Given the description of an element on the screen output the (x, y) to click on. 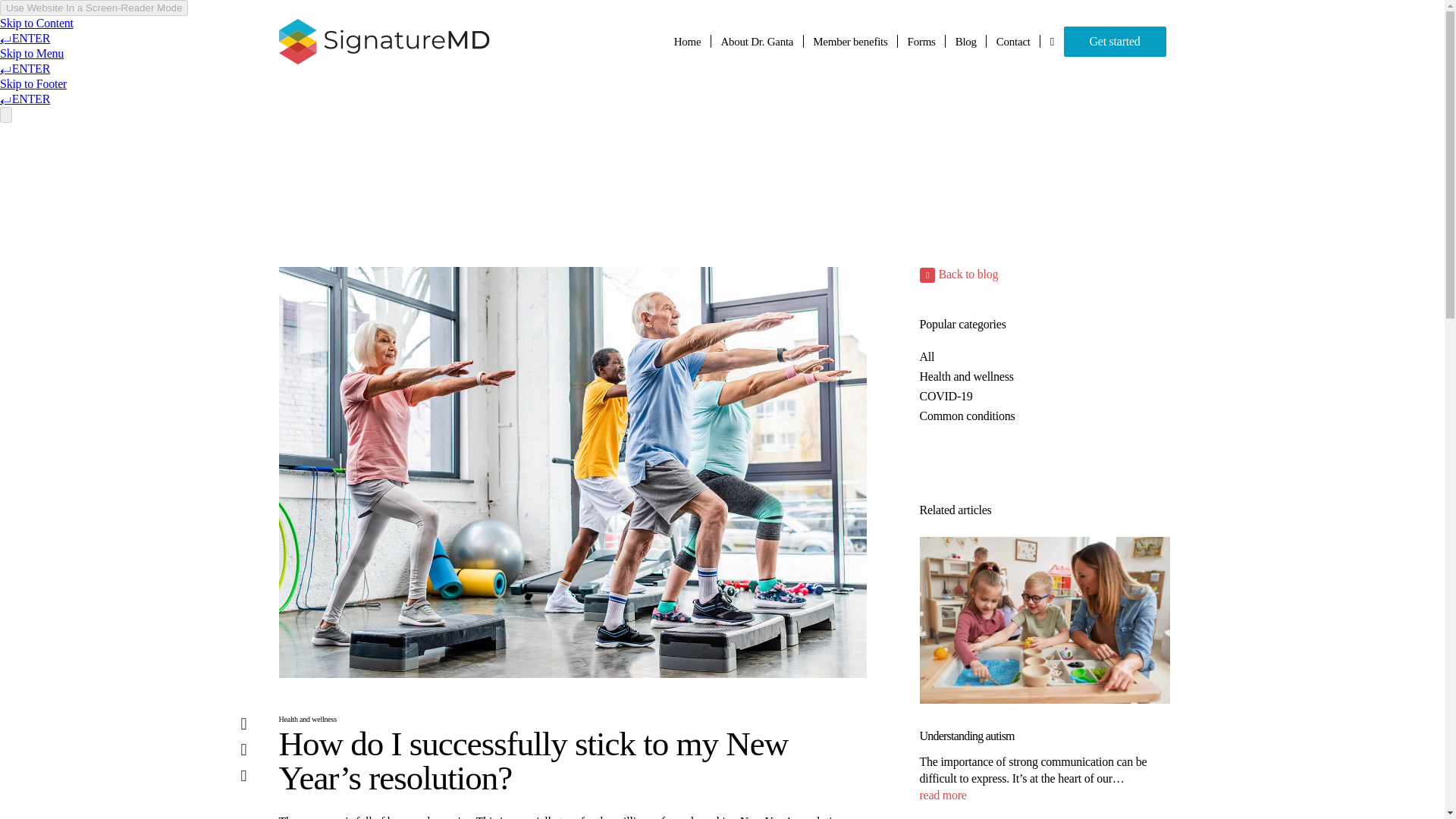
About Dr. Ganta (757, 41)
Get started (1114, 41)
Member benefits (849, 41)
Health and wellness (307, 718)
